Given the description of an element on the screen output the (x, y) to click on. 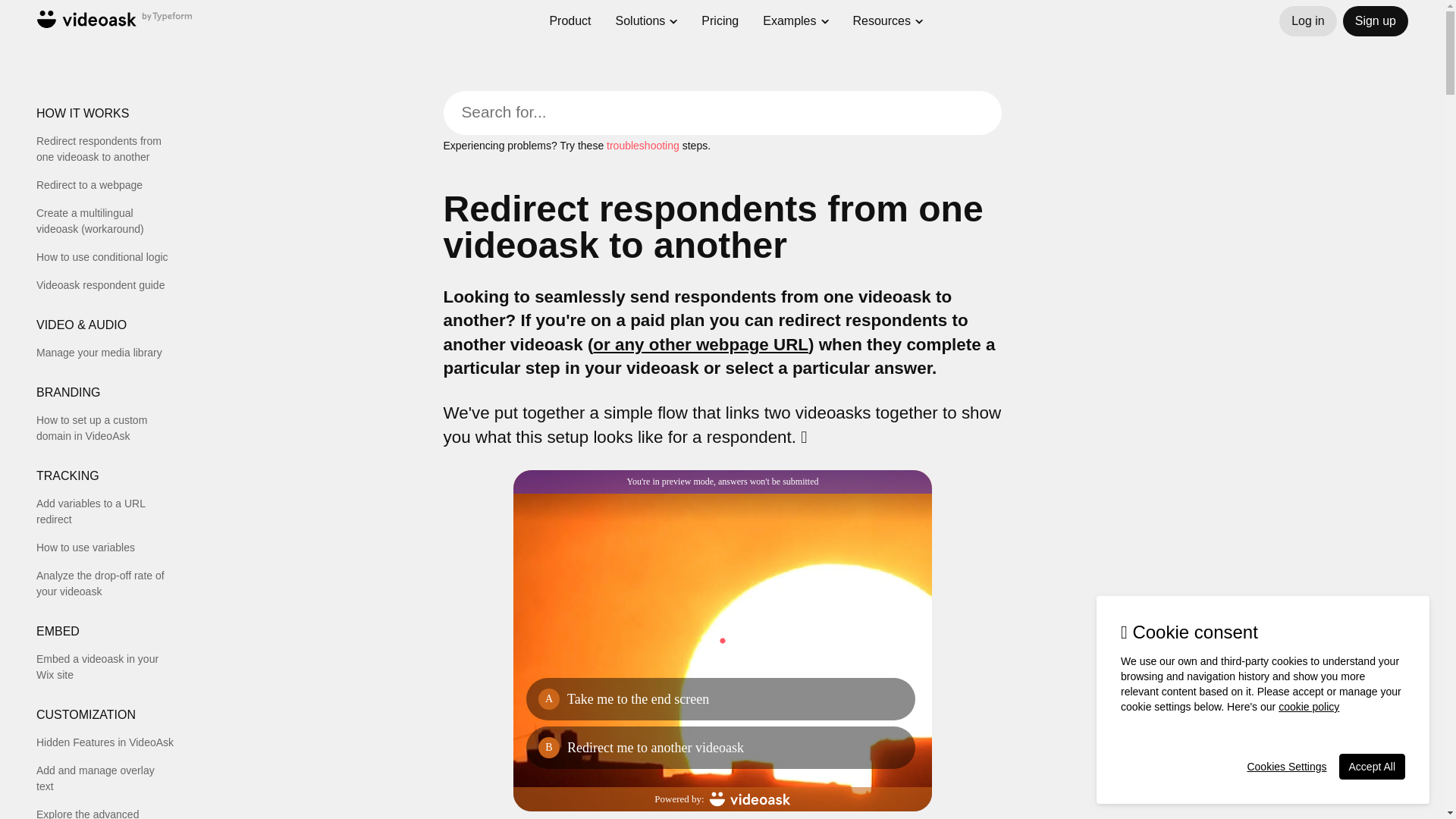
How to use variables (105, 547)
Hidden Features in VideoAsk (105, 742)
Videoask respondent guide (105, 285)
Redirect to a webpage (105, 185)
Product (569, 6)
Solutions (640, 10)
Add and manage overlay text (105, 778)
How to use conditional logic (105, 257)
Sign up (1374, 20)
Explore the advanced settings of your videoask (105, 812)
Log in (1307, 20)
Analyze the drop-off rate of your videoask (105, 583)
Redirect respondents from one videoask to another (105, 149)
Add variables to a URL redirect (105, 511)
How to set up a custom domain in VideoAsk (105, 428)
